Given the description of an element on the screen output the (x, y) to click on. 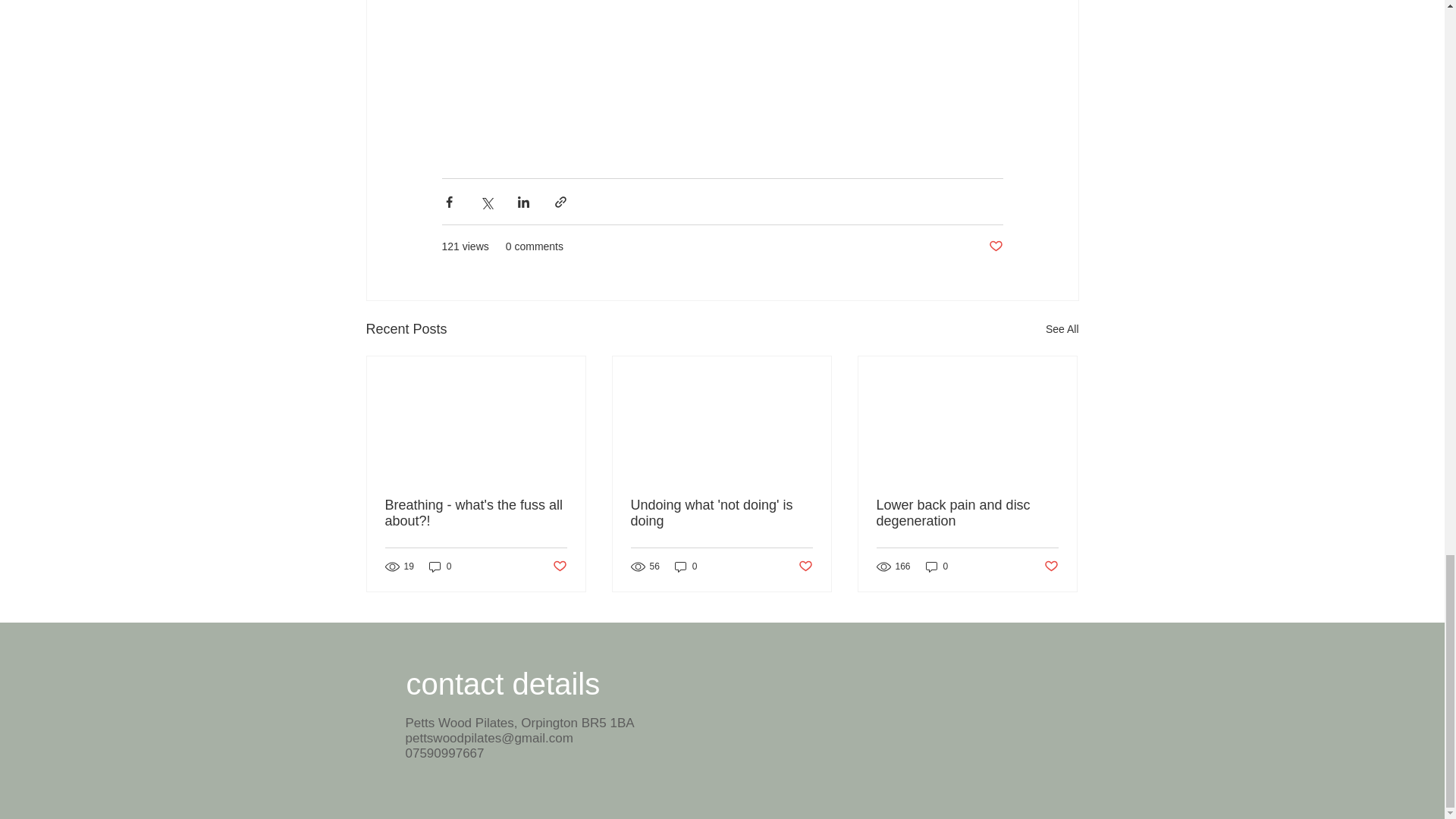
See All (1061, 329)
Undoing what 'not doing' is doing (721, 513)
0 (440, 566)
Breathing - what's the fuss all about?! (476, 513)
Post not marked as liked (804, 566)
Post not marked as liked (995, 246)
Post not marked as liked (558, 566)
0 (937, 566)
Lower back pain and disc degeneration (967, 513)
Post not marked as liked (1050, 566)
